Given the description of an element on the screen output the (x, y) to click on. 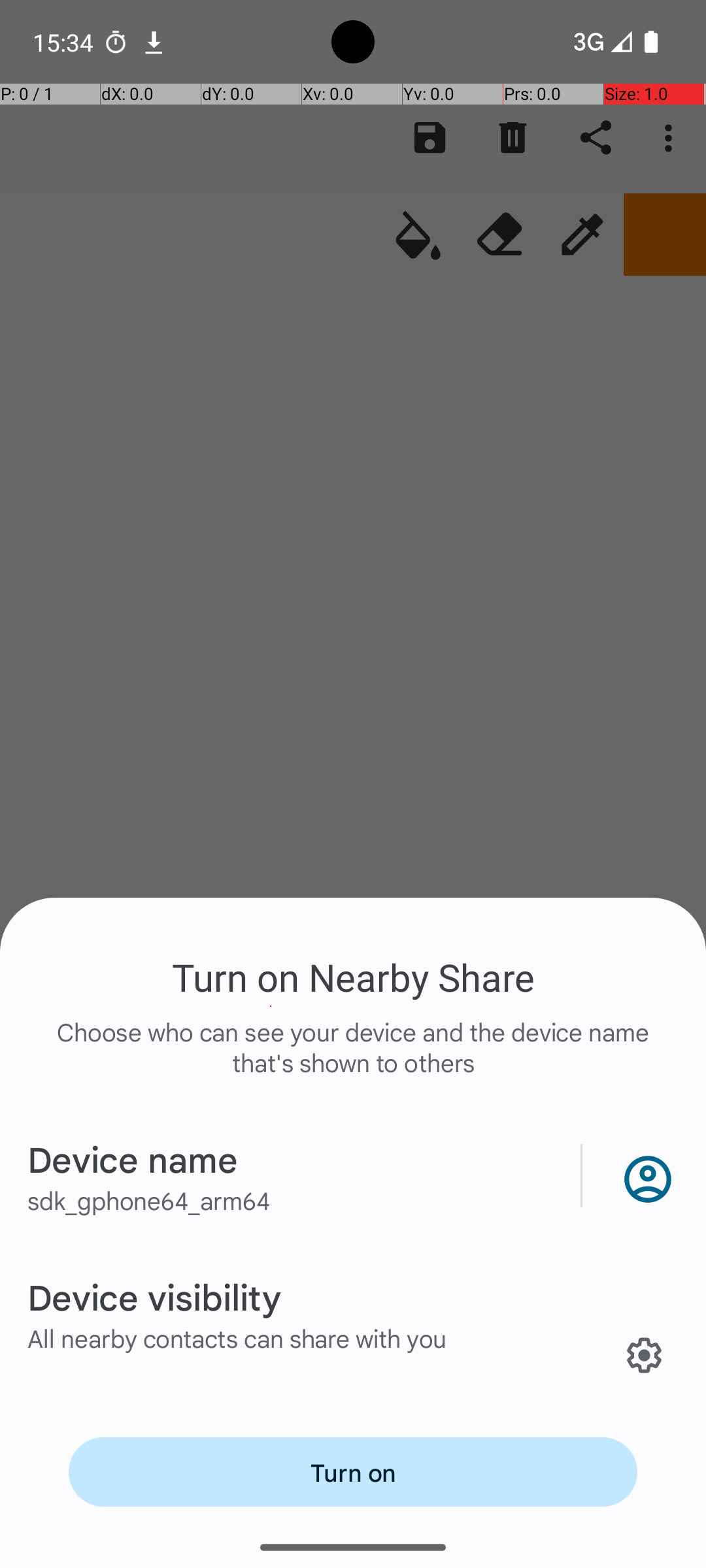
Turn on Nearby Share Element type: android.widget.TextView (353, 976)
Choose who can see your device and the device name that's shown to others Element type: android.widget.TextView (353, 1060)
Turn on Element type: android.widget.Button (352, 1471)
All nearby contacts can share with you Element type: android.widget.TextView (237, 1338)
